Given the description of an element on the screen output the (x, y) to click on. 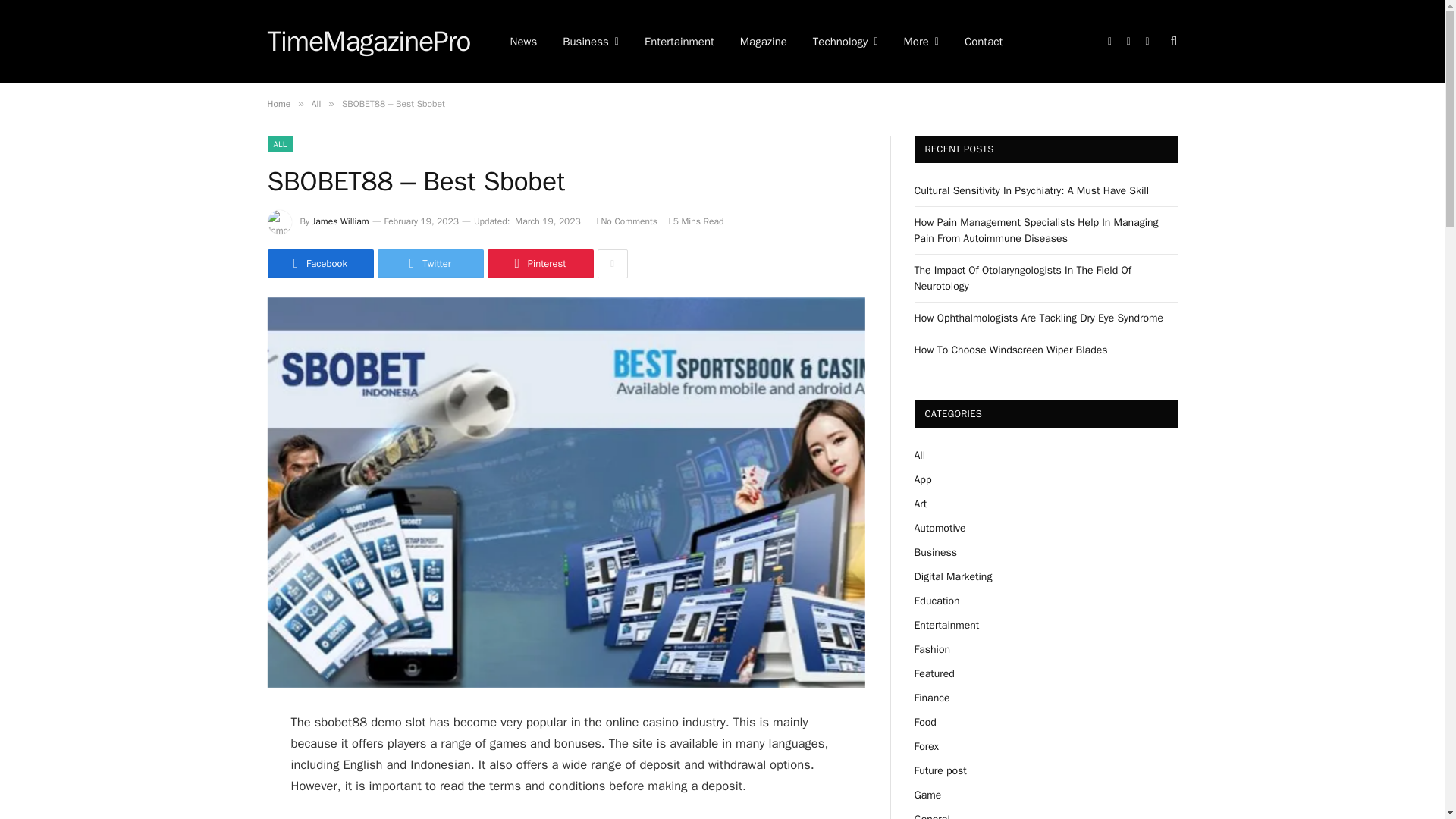
Technology (845, 41)
Share on Twitter (430, 263)
Share on Pinterest (539, 263)
Home (277, 103)
Show More Social Sharing (611, 263)
Share on Facebook (319, 263)
No Comments (626, 221)
TimeMagazinePro (368, 41)
TimeMagazinePro (368, 41)
Business (590, 41)
